Given the description of an element on the screen output the (x, y) to click on. 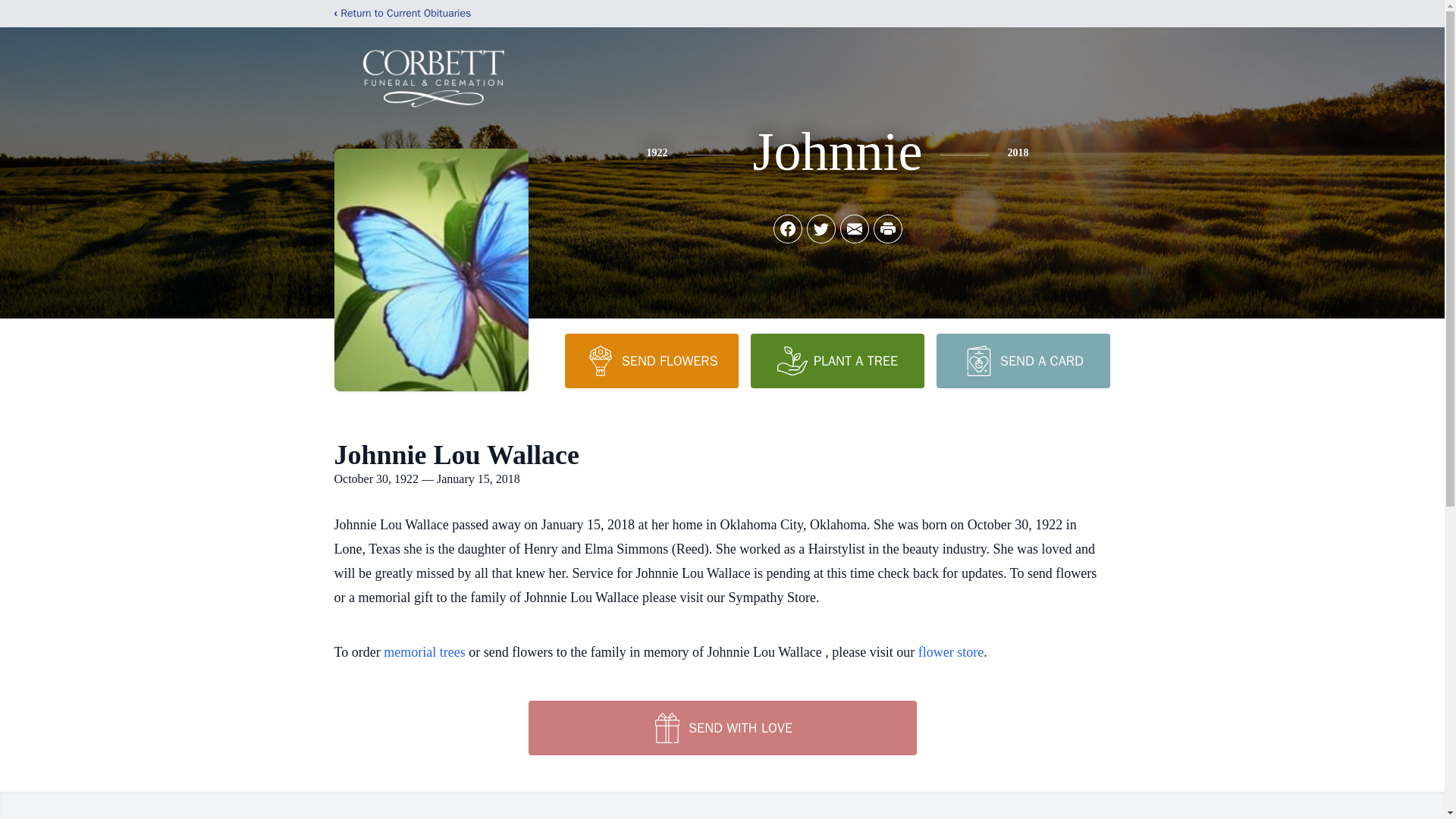
PLANT A TREE (837, 360)
SEND A CARD (1022, 360)
memorial trees (424, 652)
SEND FLOWERS (651, 360)
flower store (951, 652)
SEND WITH LOVE (721, 728)
